Given the description of an element on the screen output the (x, y) to click on. 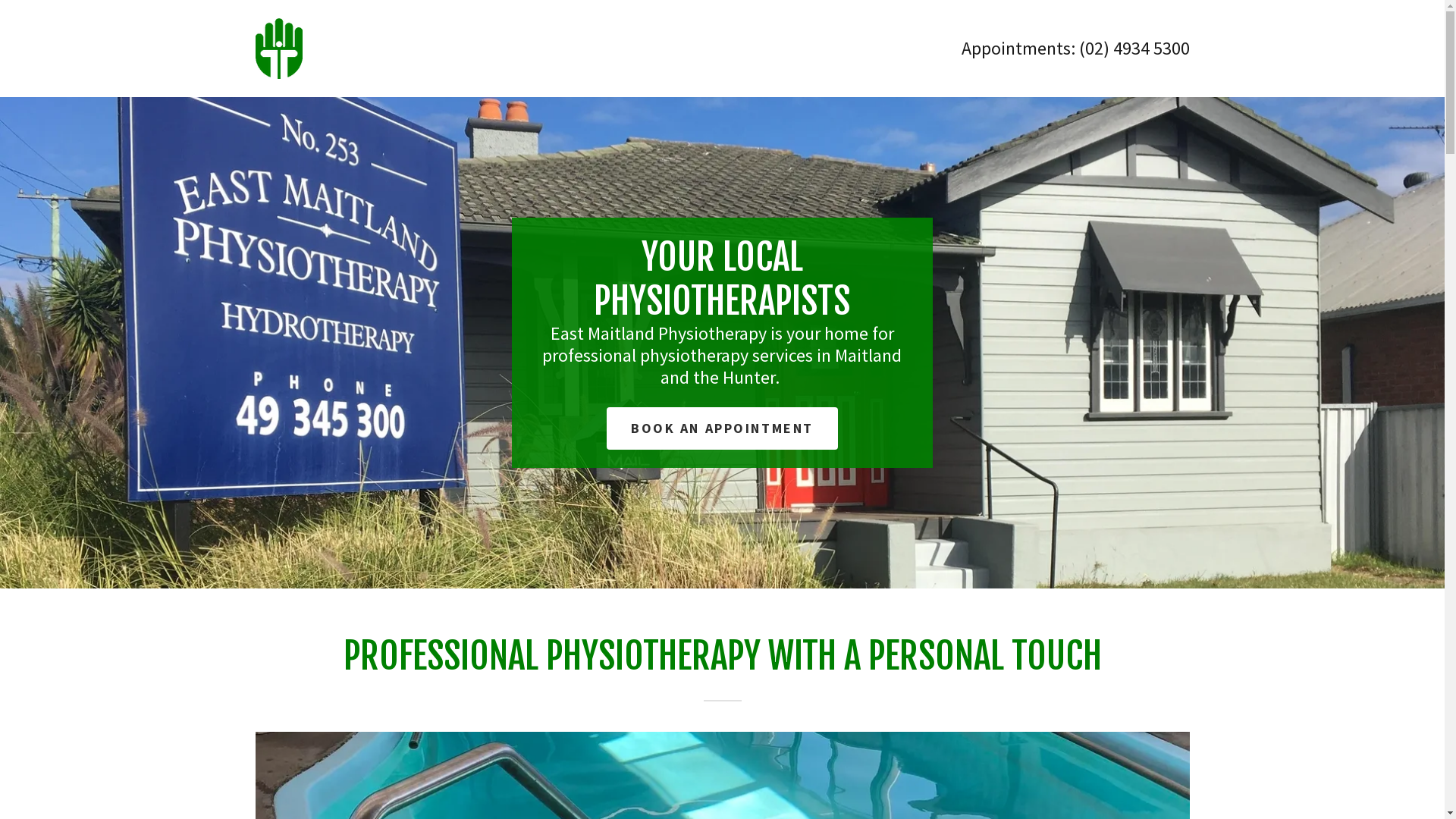
BOOK AN APPOINTMENT Element type: text (721, 428)
(02) 4934 5300 Element type: text (1133, 47)
